Given the description of an element on the screen output the (x, y) to click on. 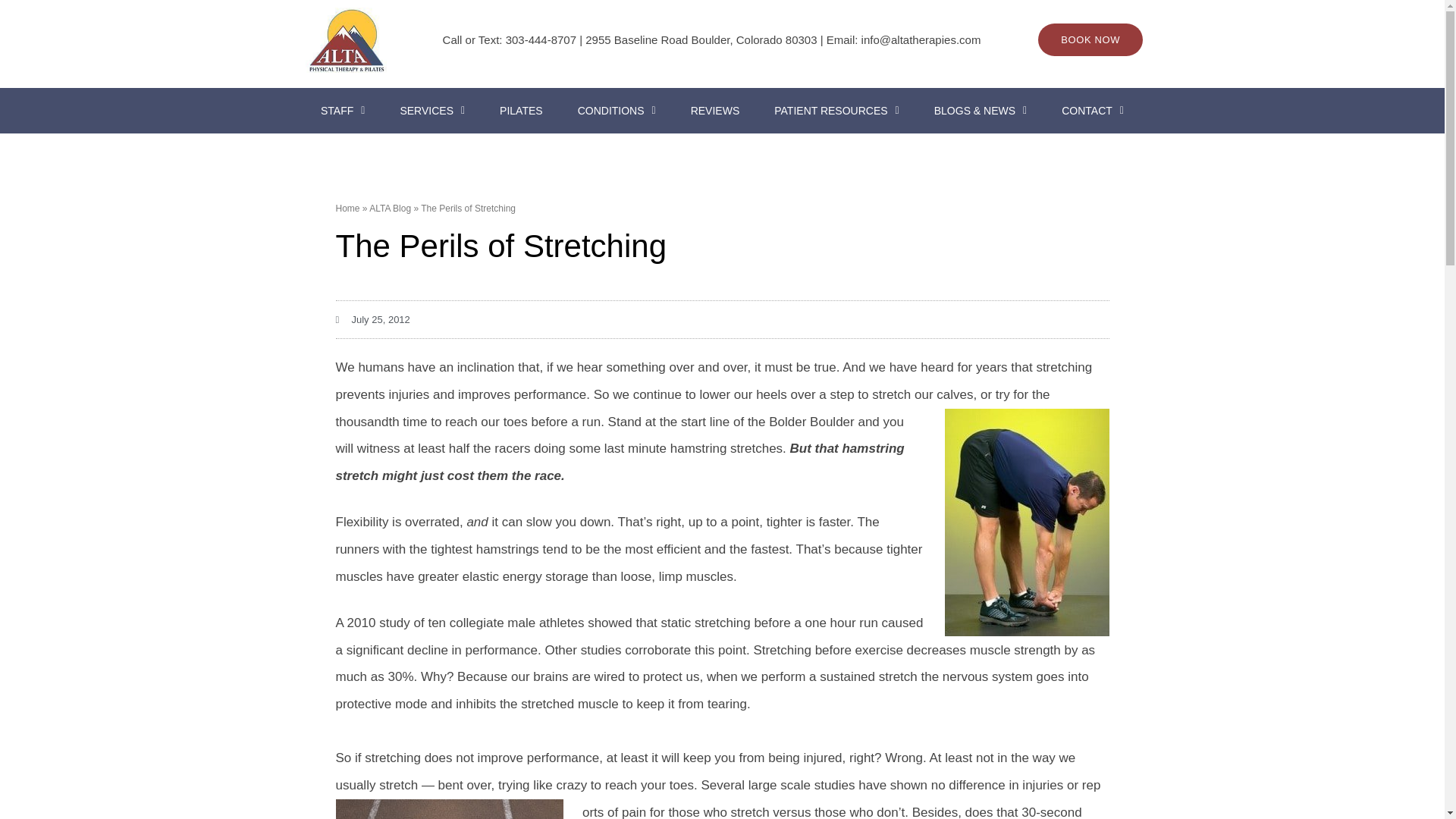
SERVICES (432, 110)
stretching (448, 809)
CONDITIONS (616, 110)
STAFF (342, 110)
PILATES (520, 110)
BOOK NOW (1090, 39)
